Given the description of an element on the screen output the (x, y) to click on. 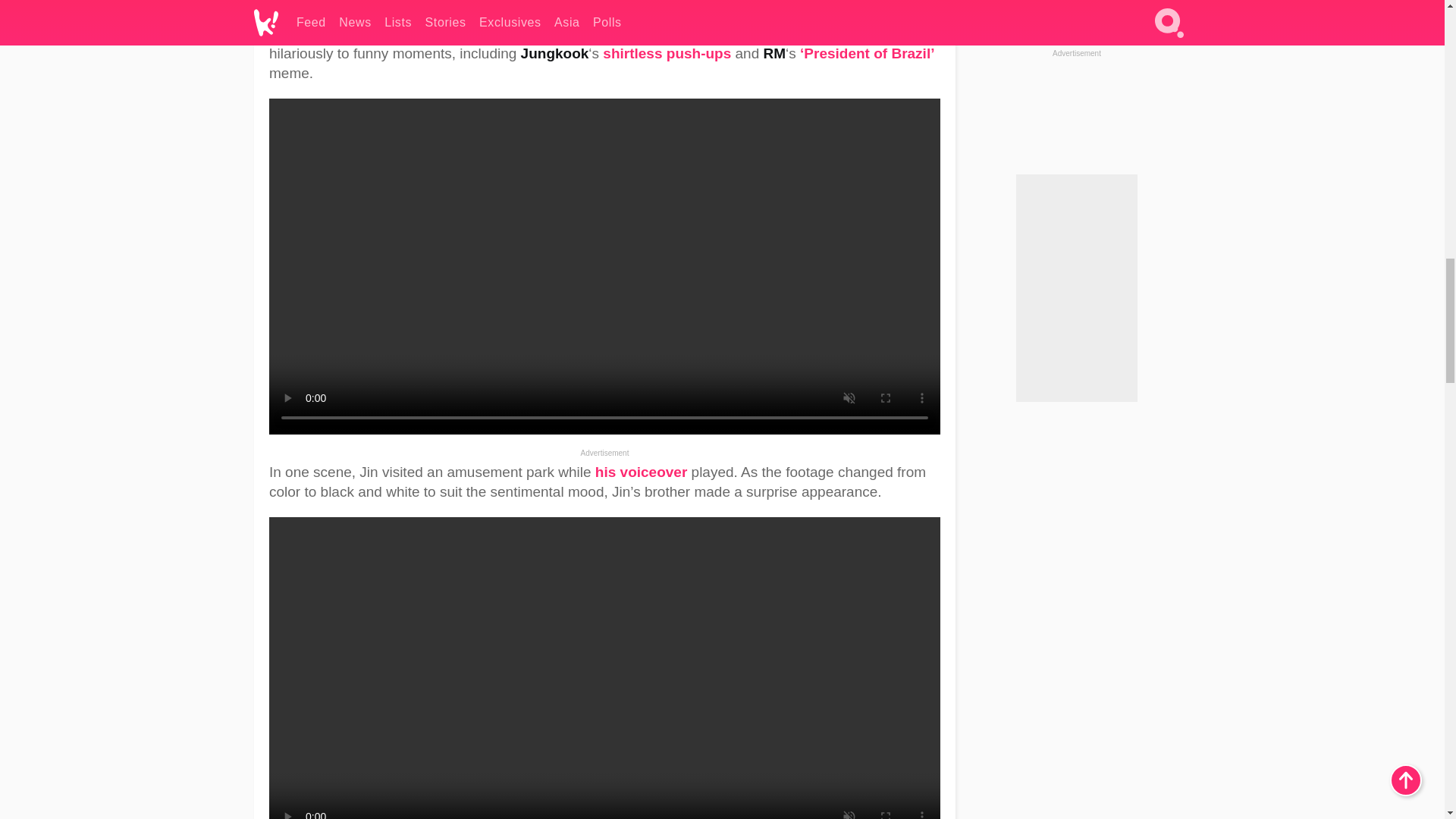
shirtless push-ups (666, 53)
his voiceover (641, 471)
